Given the description of an element on the screen output the (x, y) to click on. 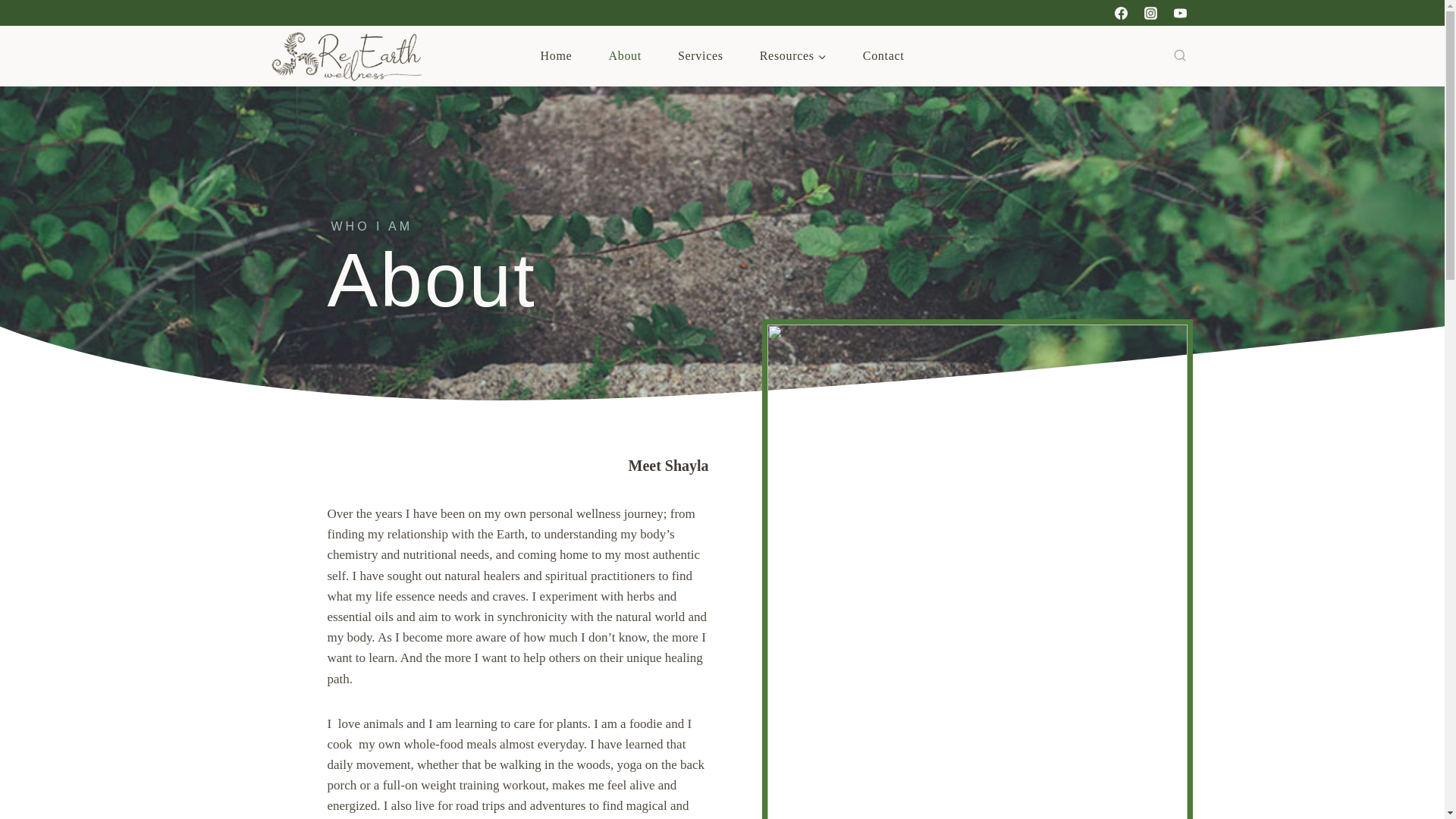
Contact (883, 55)
Resources (792, 55)
Home (556, 55)
About (624, 55)
Services (700, 55)
